Given the description of an element on the screen output the (x, y) to click on. 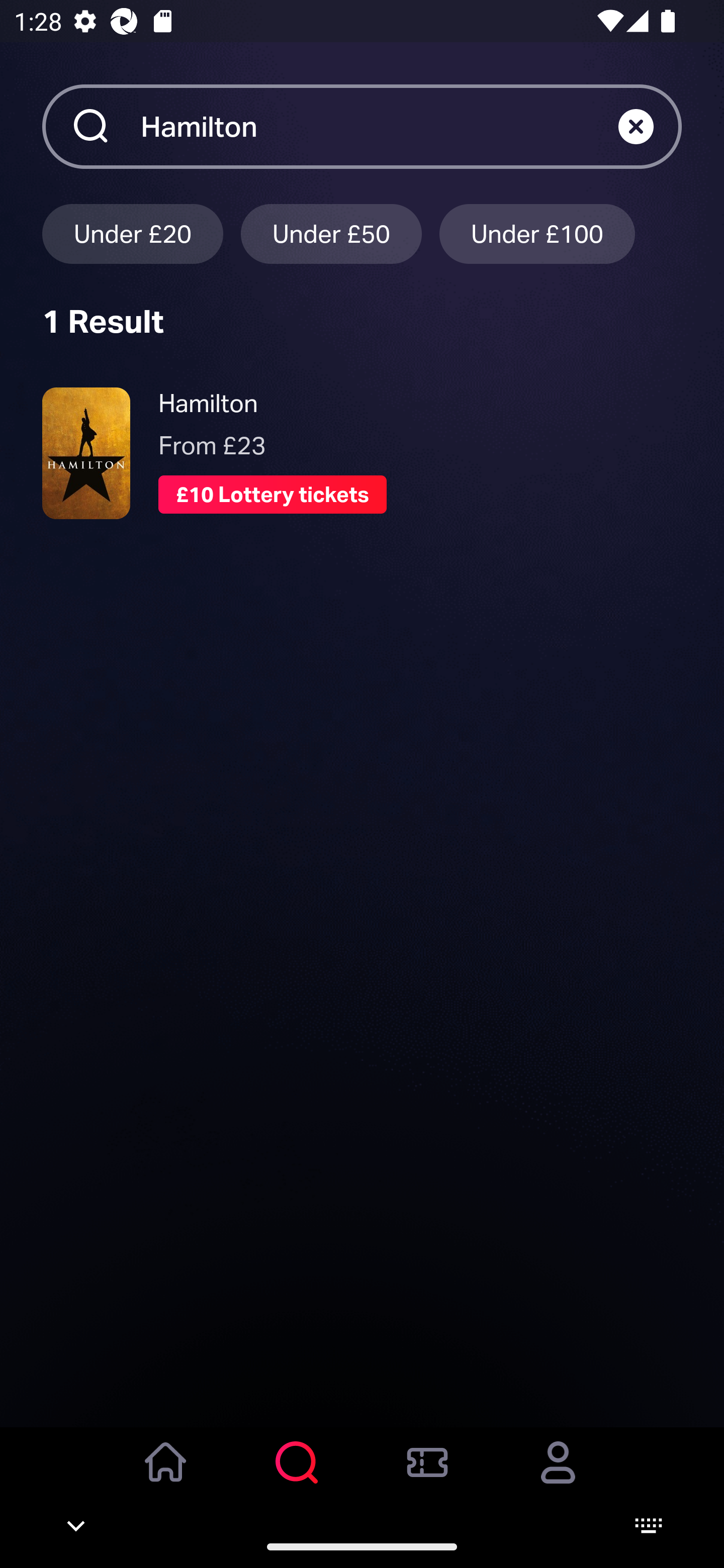
Hamilton (379, 126)
Under £20 (131, 233)
Under £50 (331, 233)
Under £100 (536, 233)
Home (165, 1475)
Orders (427, 1475)
Account (558, 1475)
